Given the description of an element on the screen output the (x, y) to click on. 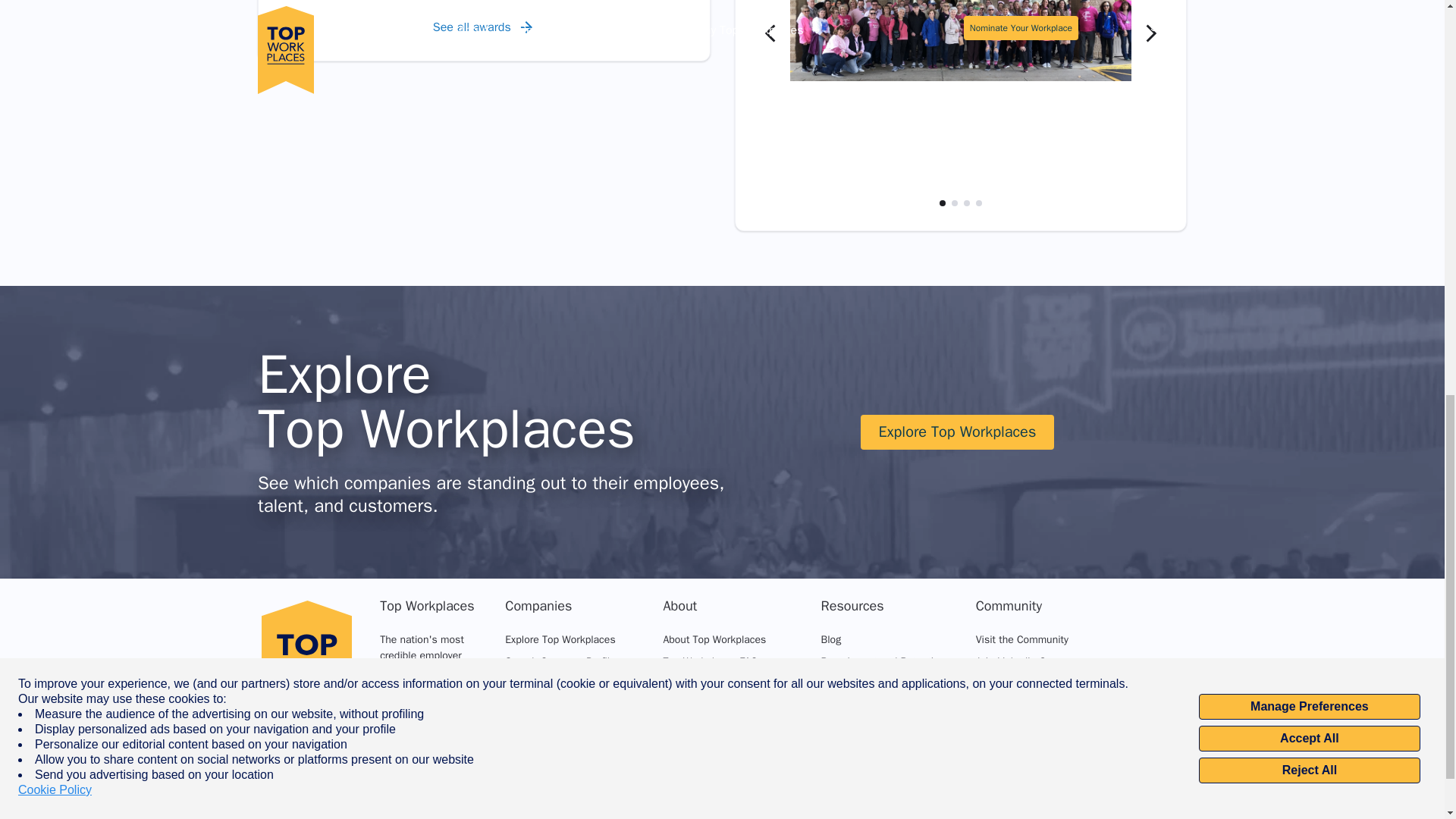
See all awards (483, 27)
2019 (534, 1)
Explore Top Workplaces (559, 639)
2021 (332, 1)
Explore Top Workplaces (957, 431)
2020 (433, 1)
